Given the description of an element on the screen output the (x, y) to click on. 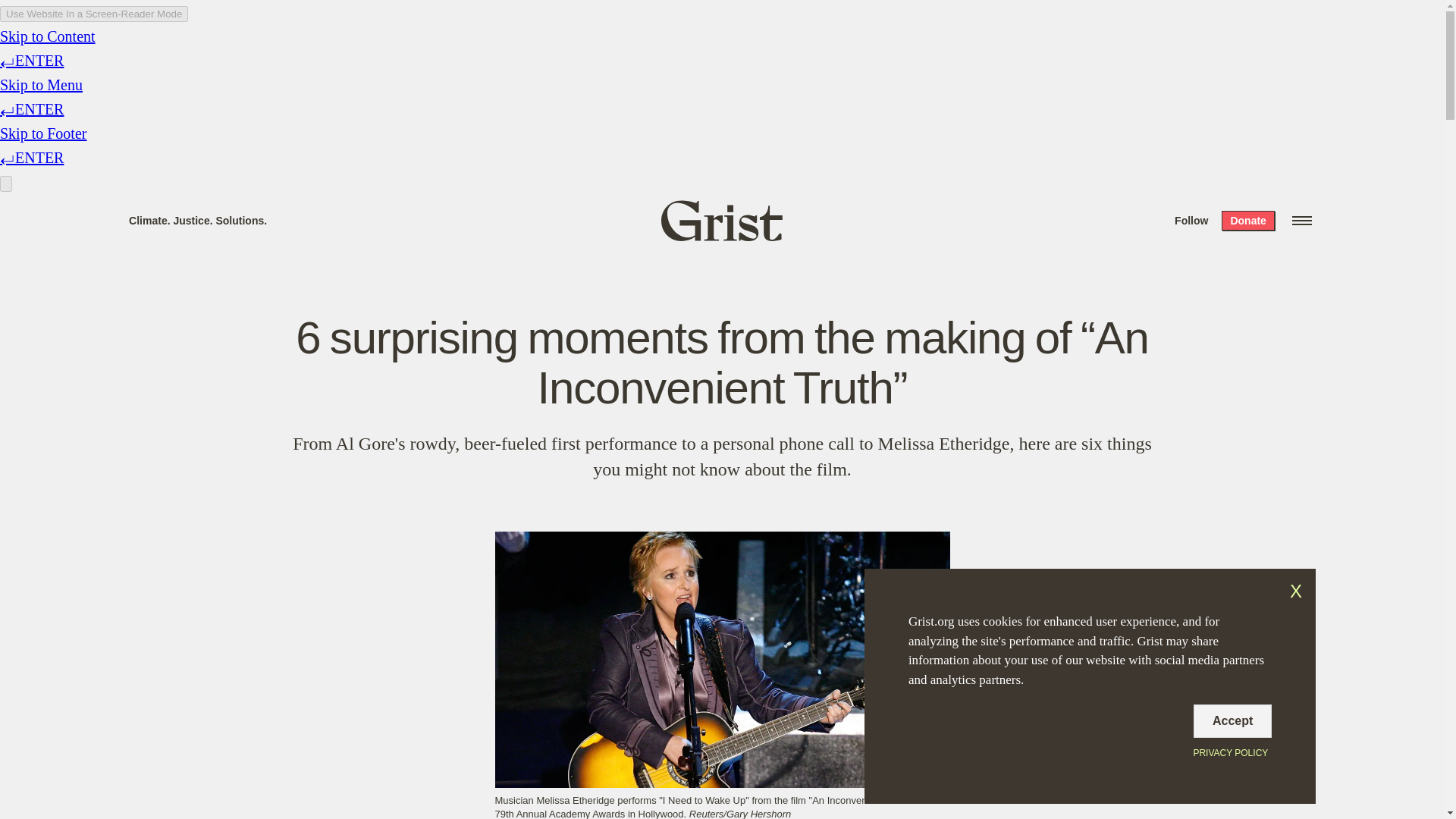
Accept (1232, 720)
Search (227, 18)
Donate (1247, 220)
Follow (1191, 220)
Grist home (722, 219)
